Given the description of an element on the screen output the (x, y) to click on. 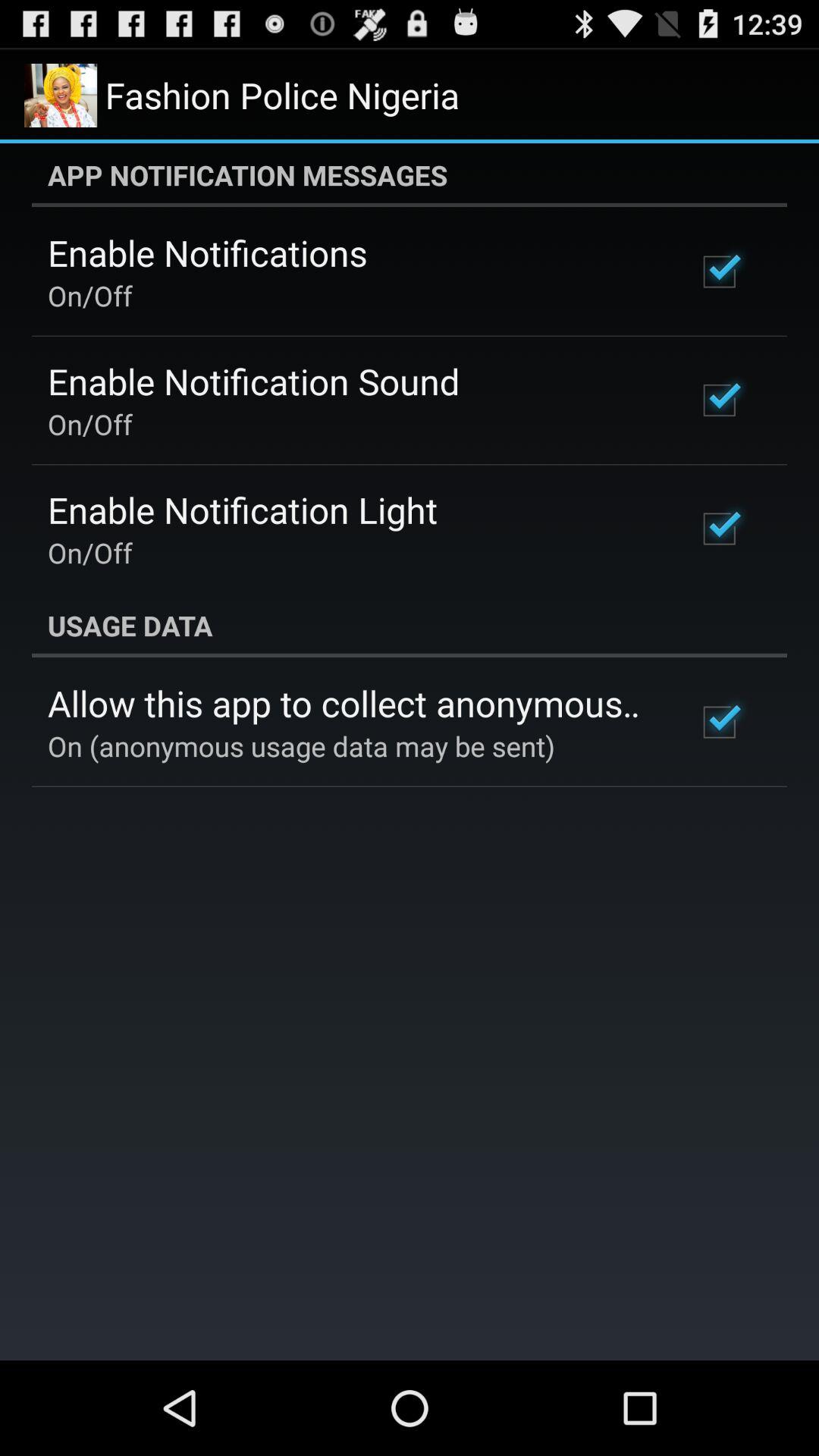
launch item above on anonymous usage item (351, 703)
